Given the description of an element on the screen output the (x, y) to click on. 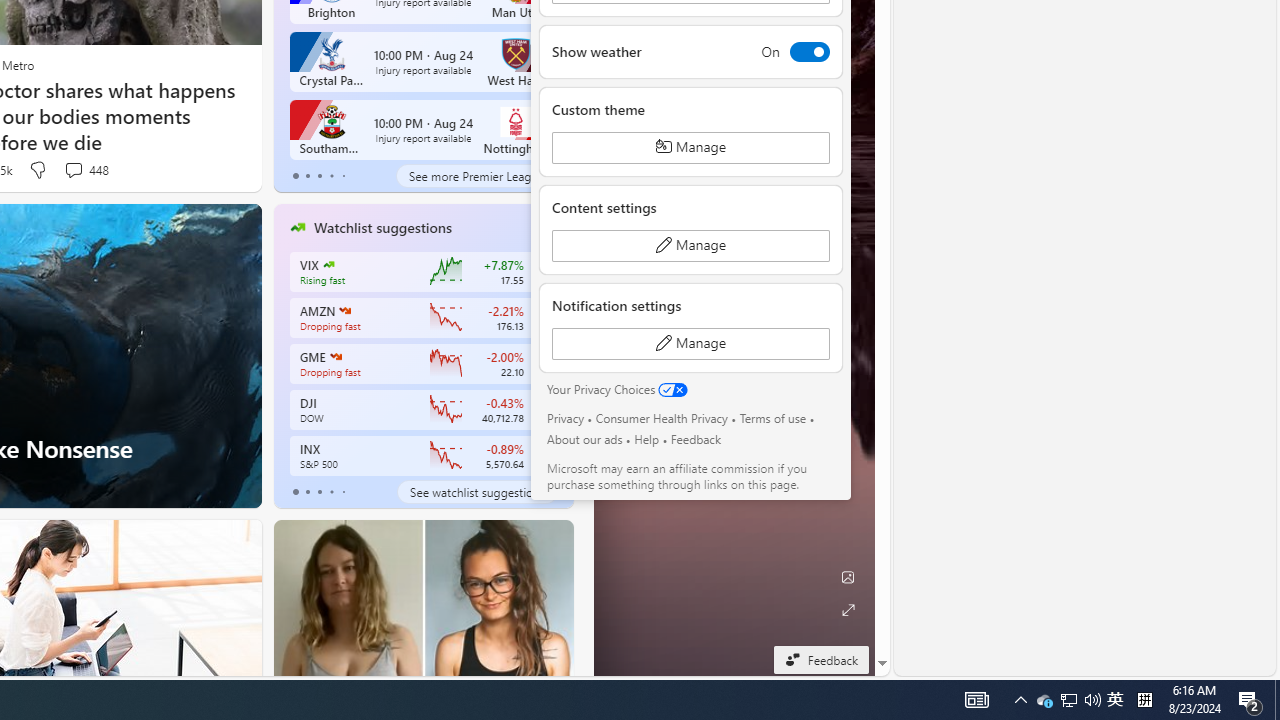
Consumer Health Privacy (661, 417)
tab-4 (342, 491)
Expand background (847, 610)
About our ads (584, 439)
Dislike (37, 170)
See more Premier League (476, 175)
AMAZON.COM, INC. (343, 310)
Watchlist suggestions (382, 227)
View comments 448 Comment (73, 169)
CBOE Market Volatility Index (328, 264)
View comments 448 Comment (85, 170)
Help (646, 439)
